Given the description of an element on the screen output the (x, y) to click on. 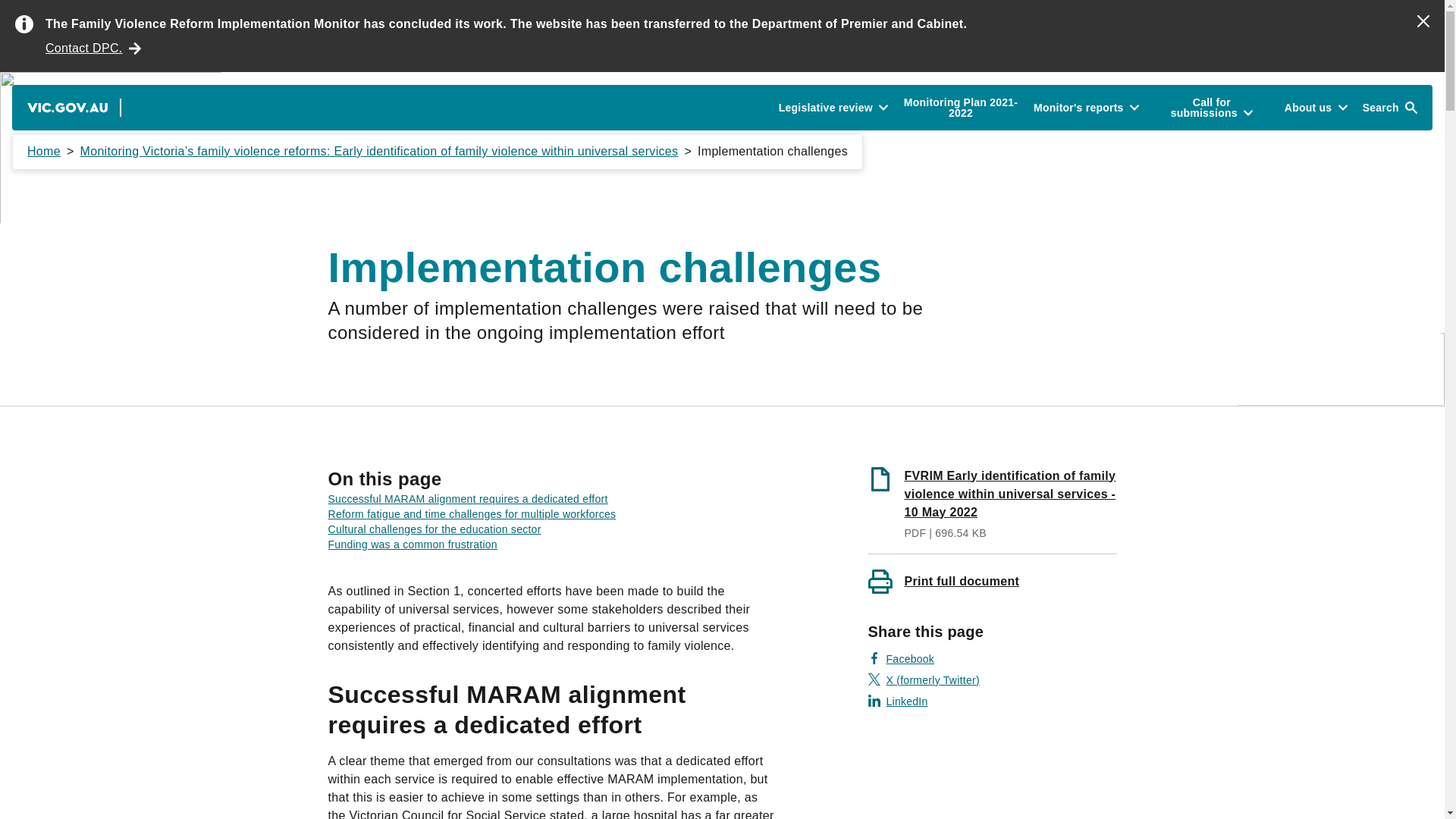
Facebook (900, 657)
Monitoring Plan 2021-2022 (960, 107)
Successful MARAM alignment requires a dedicated effort (467, 499)
Contact DPC. (93, 48)
Print full document (991, 580)
Reform fatigue and time challenges for multiple workforces (471, 513)
Funding was a common frustration (411, 544)
Cultural challenges for the education sector (433, 529)
Home (44, 151)
